Given the description of an element on the screen output the (x, y) to click on. 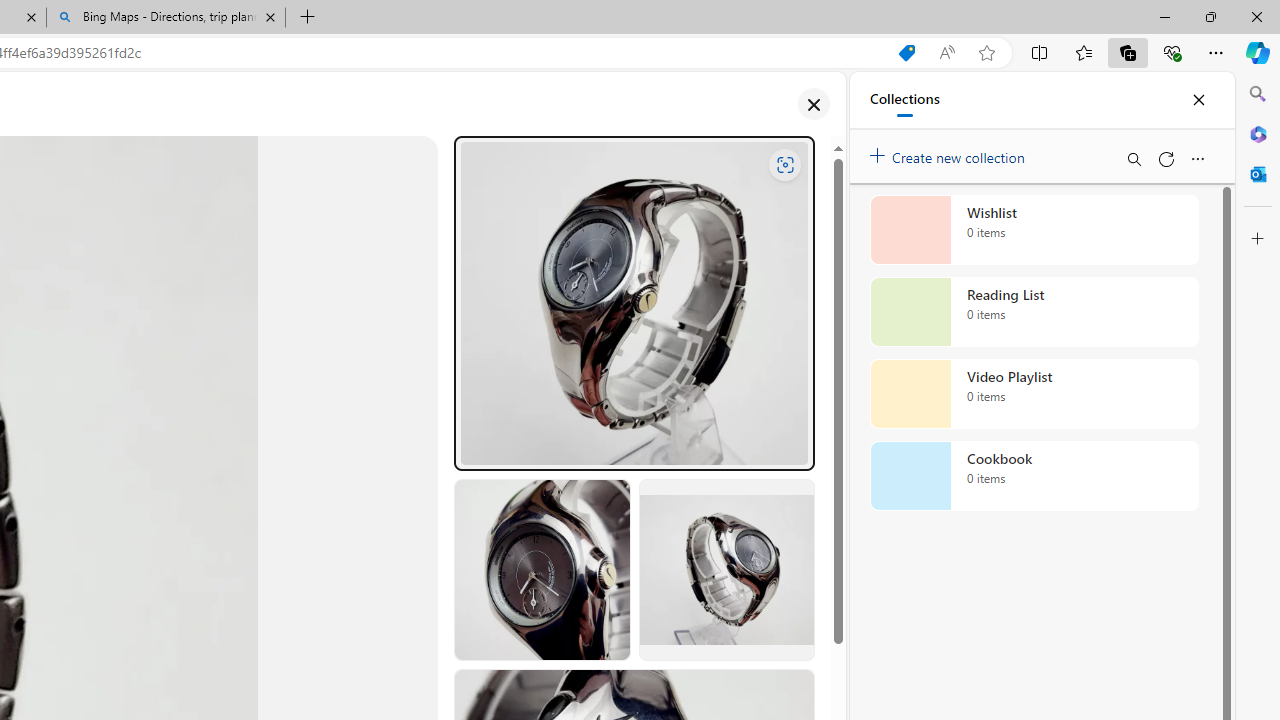
Wishlist collection, 0 items (1034, 229)
Cookbook collection, 0 items (1034, 475)
Video Playlist collection, 0 items (1034, 394)
Close image gallery dialog (813, 103)
